Given the description of an element on the screen output the (x, y) to click on. 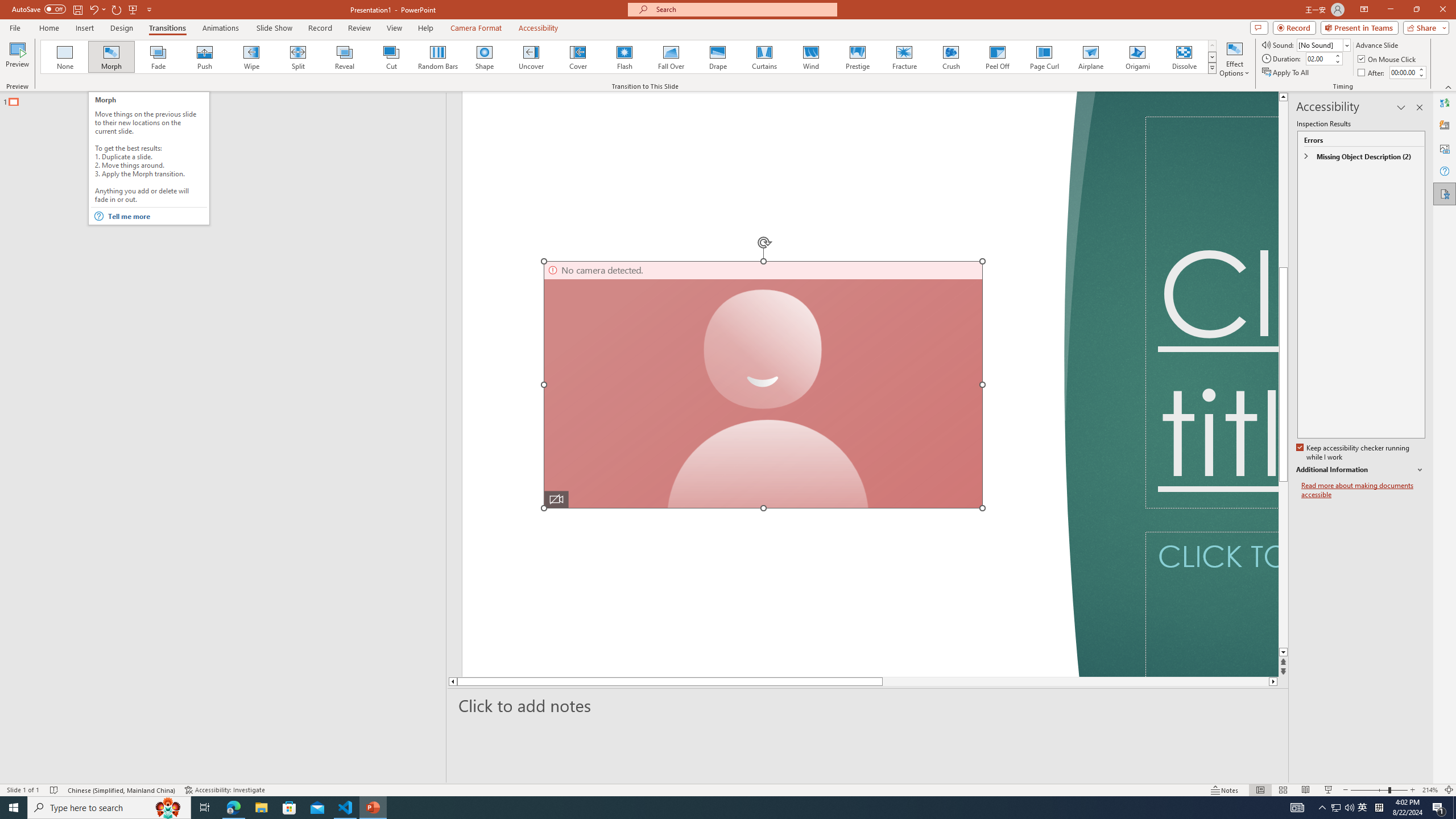
Prestige (857, 56)
Sound (1324, 44)
Wind (810, 56)
Cover (577, 56)
Zoom 214% (1430, 790)
